Given the description of an element on the screen output the (x, y) to click on. 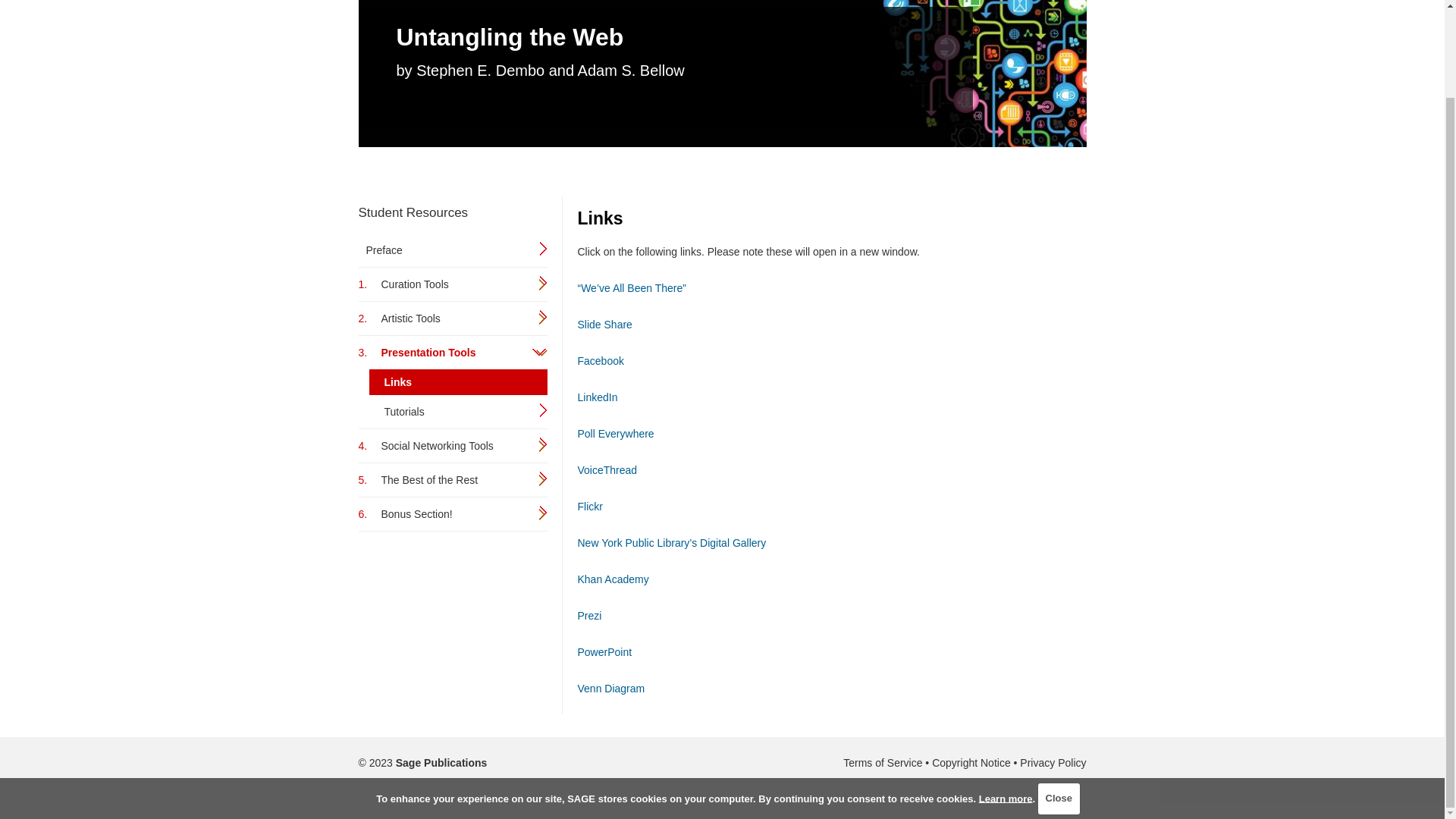
Slide Share (604, 324)
Learn more (1005, 697)
The Best of the Rest (452, 479)
Untangling the Web (676, 37)
Links (457, 381)
Bonus Section! (452, 514)
Social Networking Tools (452, 445)
Curation Tools (452, 284)
LinkedIn (597, 397)
Facebook (601, 360)
Presentation Tools (452, 352)
Poll Everywhere (615, 433)
Tutorials (457, 411)
VoiceThread (607, 469)
Preface (444, 249)
